Given the description of an element on the screen output the (x, y) to click on. 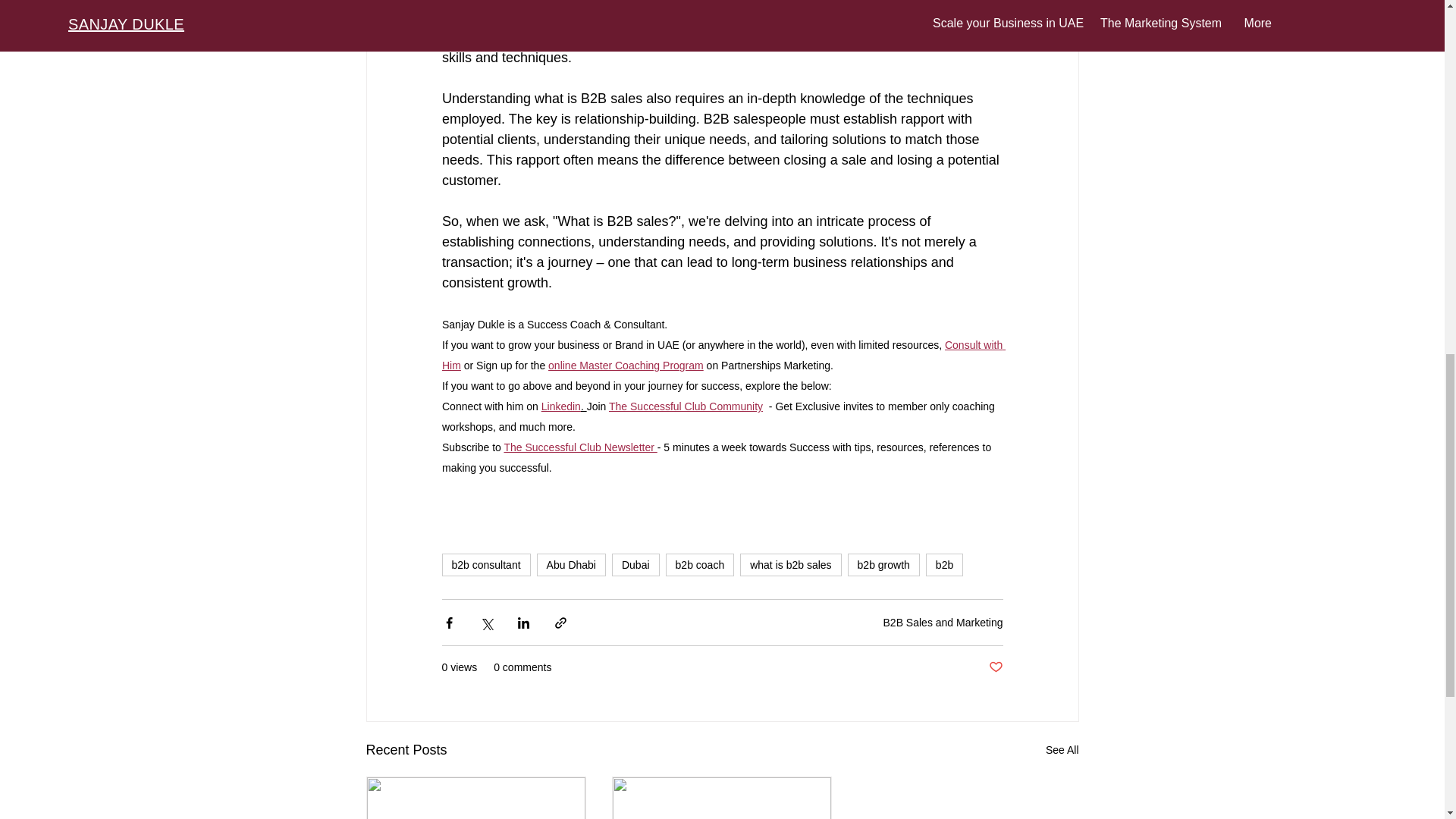
See All (1061, 750)
b2b (944, 564)
The Successful Club Community (684, 405)
b2b consultant (485, 564)
b2b coach (700, 564)
Linkedin (559, 405)
Abu Dhabi (571, 564)
B2B Sales and Marketing (943, 622)
b2b growth (883, 564)
The Successful Club Newsletter  (579, 446)
